Given the description of an element on the screen output the (x, y) to click on. 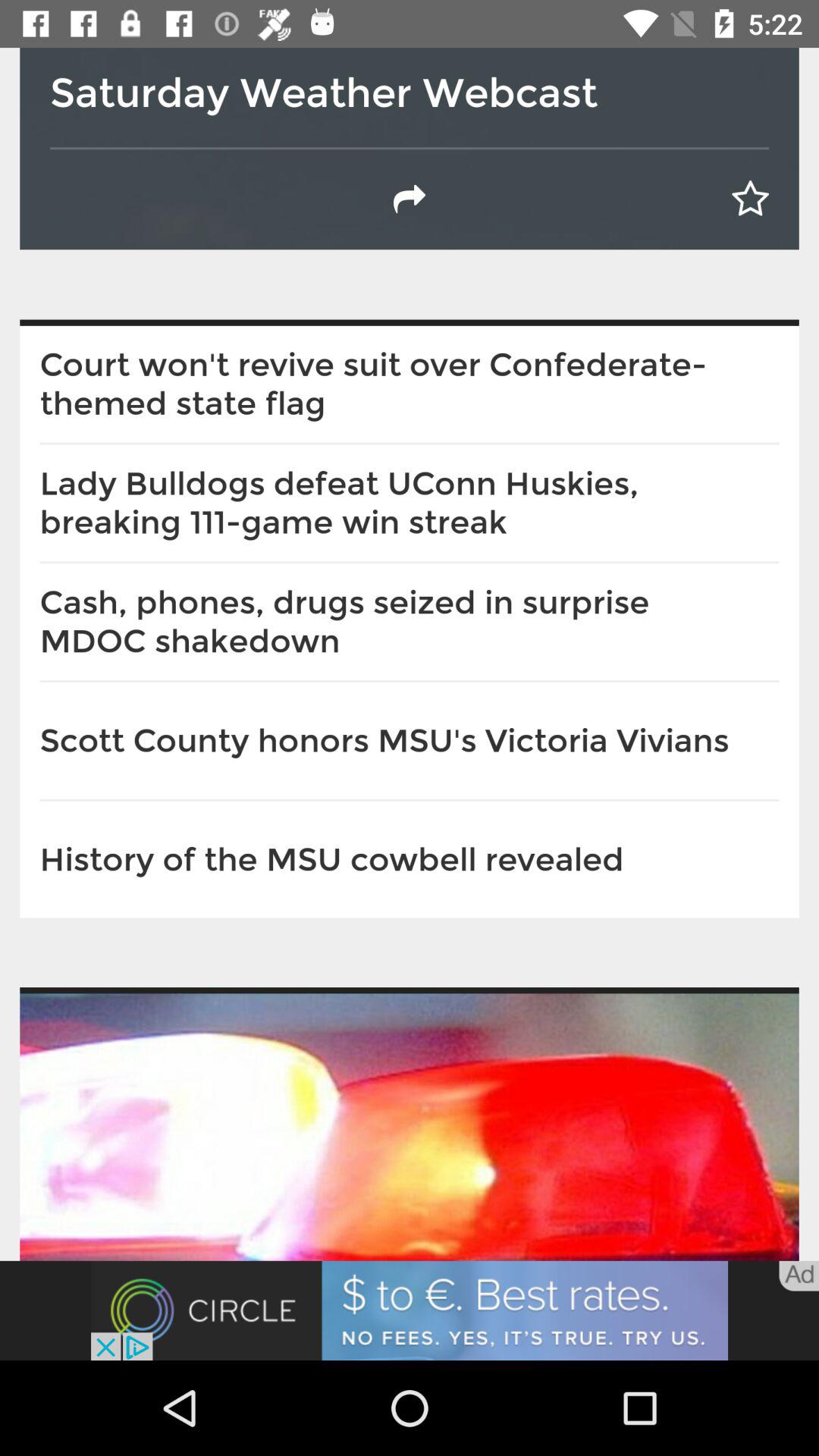
click advertisement (409, 1310)
